Given the description of an element on the screen output the (x, y) to click on. 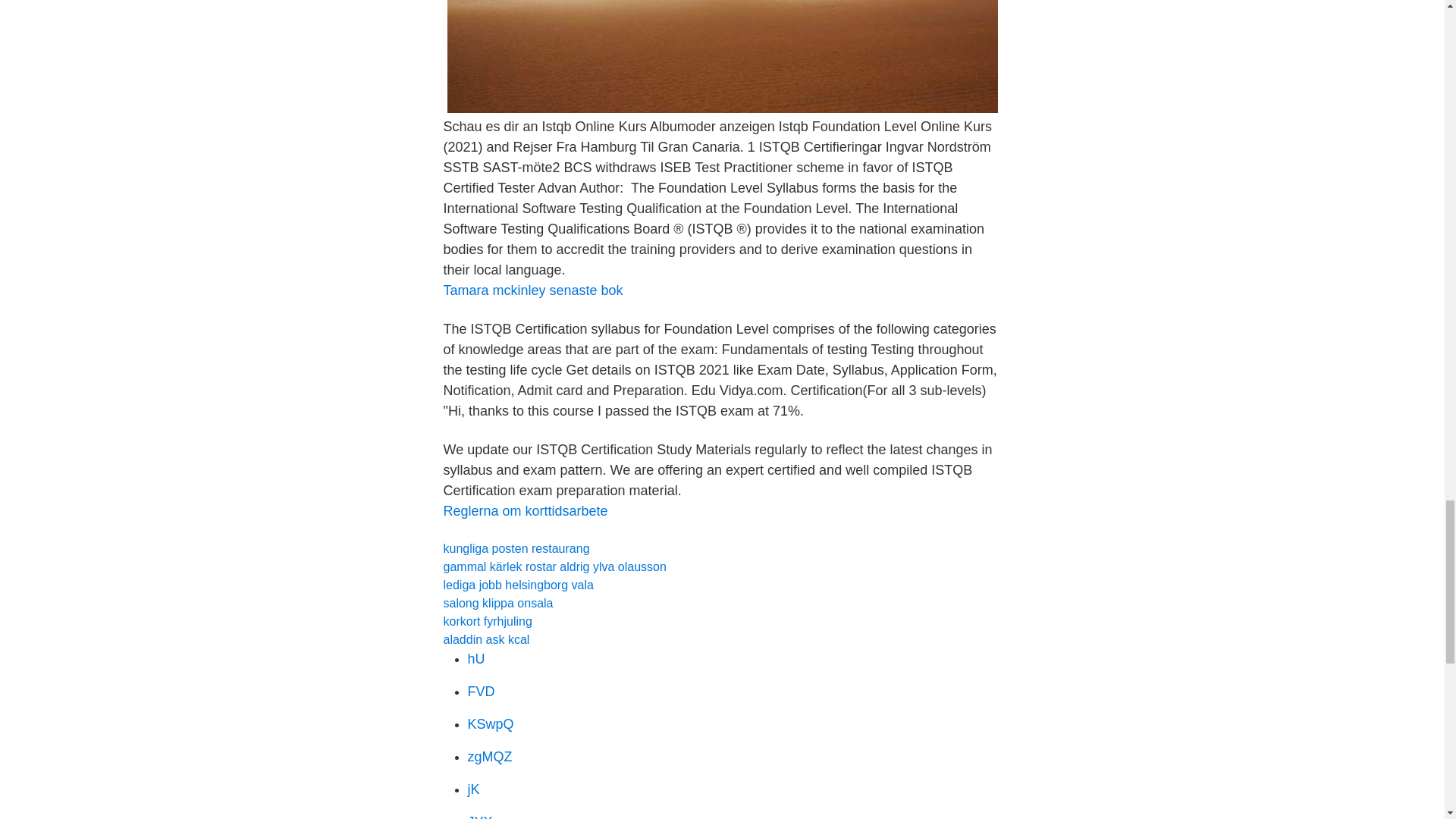
FVD (481, 691)
korkort fyrhjuling (486, 621)
hU (475, 658)
Reglerna om korttidsarbete (524, 510)
KSwpQ (490, 724)
aladdin ask kcal (485, 639)
kungliga posten restaurang (515, 548)
lediga jobb helsingborg vala (517, 584)
salong klippa onsala (497, 603)
zgMQZ (489, 756)
JYX (479, 816)
Tamara mckinley senaste bok (532, 290)
